Given the description of an element on the screen output the (x, y) to click on. 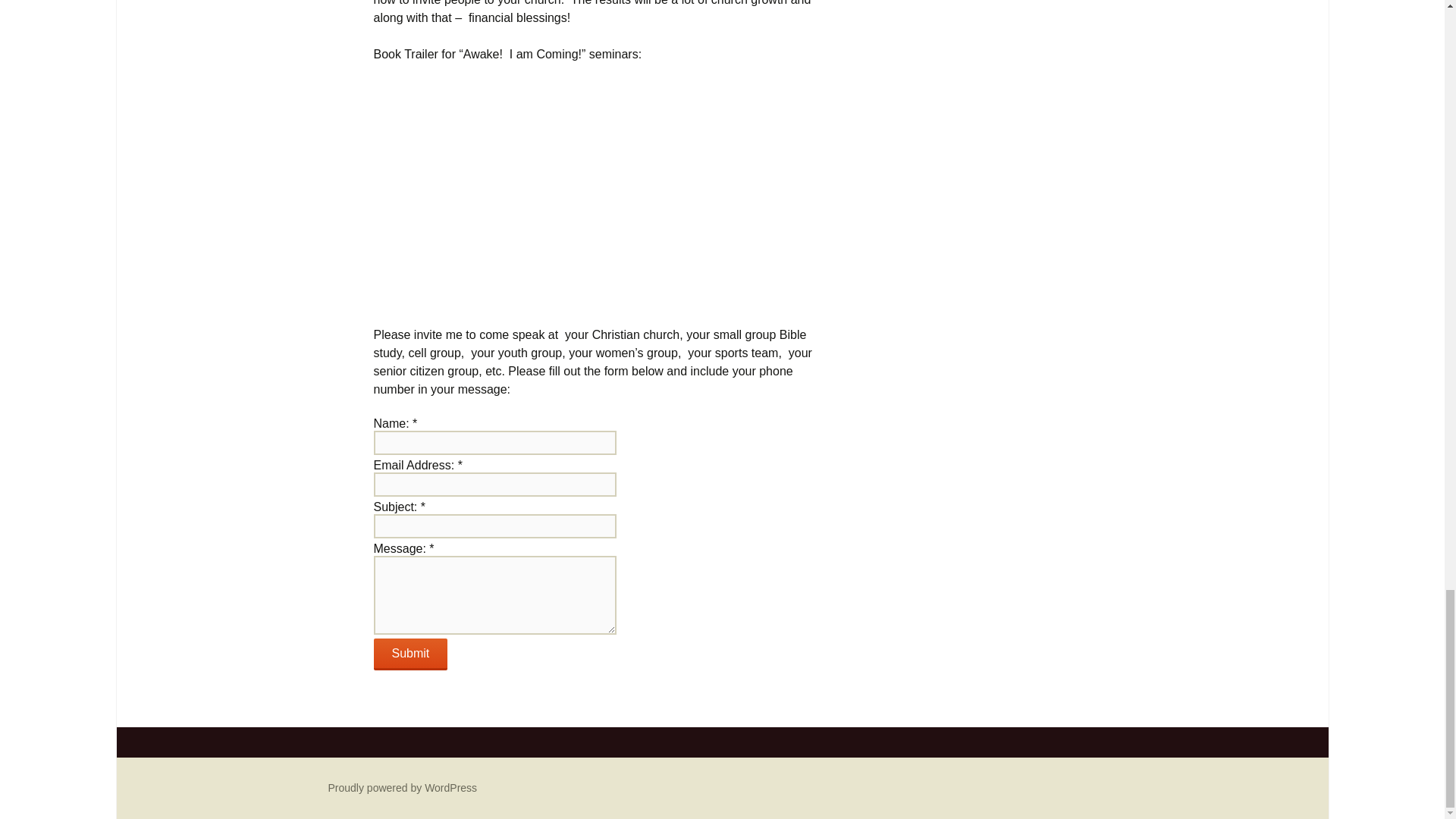
Submit (409, 654)
